Given the description of an element on the screen output the (x, y) to click on. 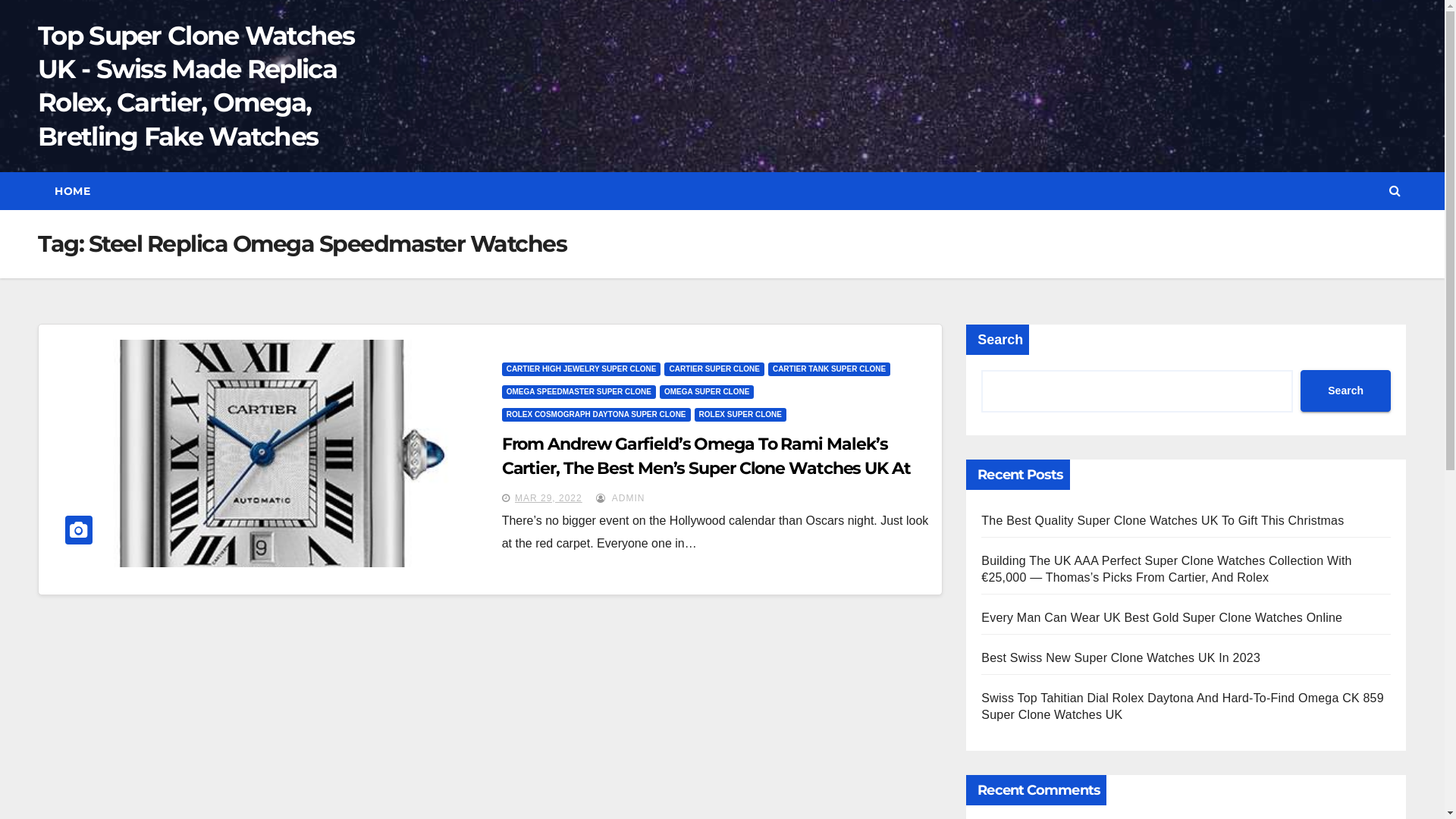
CARTIER TANK SUPER CLONE Element type: text (829, 369)
ADMIN Element type: text (620, 497)
OMEGA SPEEDMASTER SUPER CLONE Element type: text (578, 391)
Search Element type: text (1345, 390)
MAR 29, 2022 Element type: text (548, 497)
Every Man Can Wear UK Best Gold Super Clone Watches Online Element type: text (1161, 617)
ROLEX SUPER CLONE Element type: text (740, 414)
CARTIER HIGH JEWELRY SUPER CLONE Element type: text (581, 369)
HOME Element type: text (71, 191)
CARTIER SUPER CLONE Element type: text (713, 369)
OMEGA SUPER CLONE Element type: text (706, 391)
Best Swiss New Super Clone Watches UK In 2023 Element type: text (1120, 657)
ROLEX COSMOGRAPH DAYTONA SUPER CLONE Element type: text (596, 414)
